Given the description of an element on the screen output the (x, y) to click on. 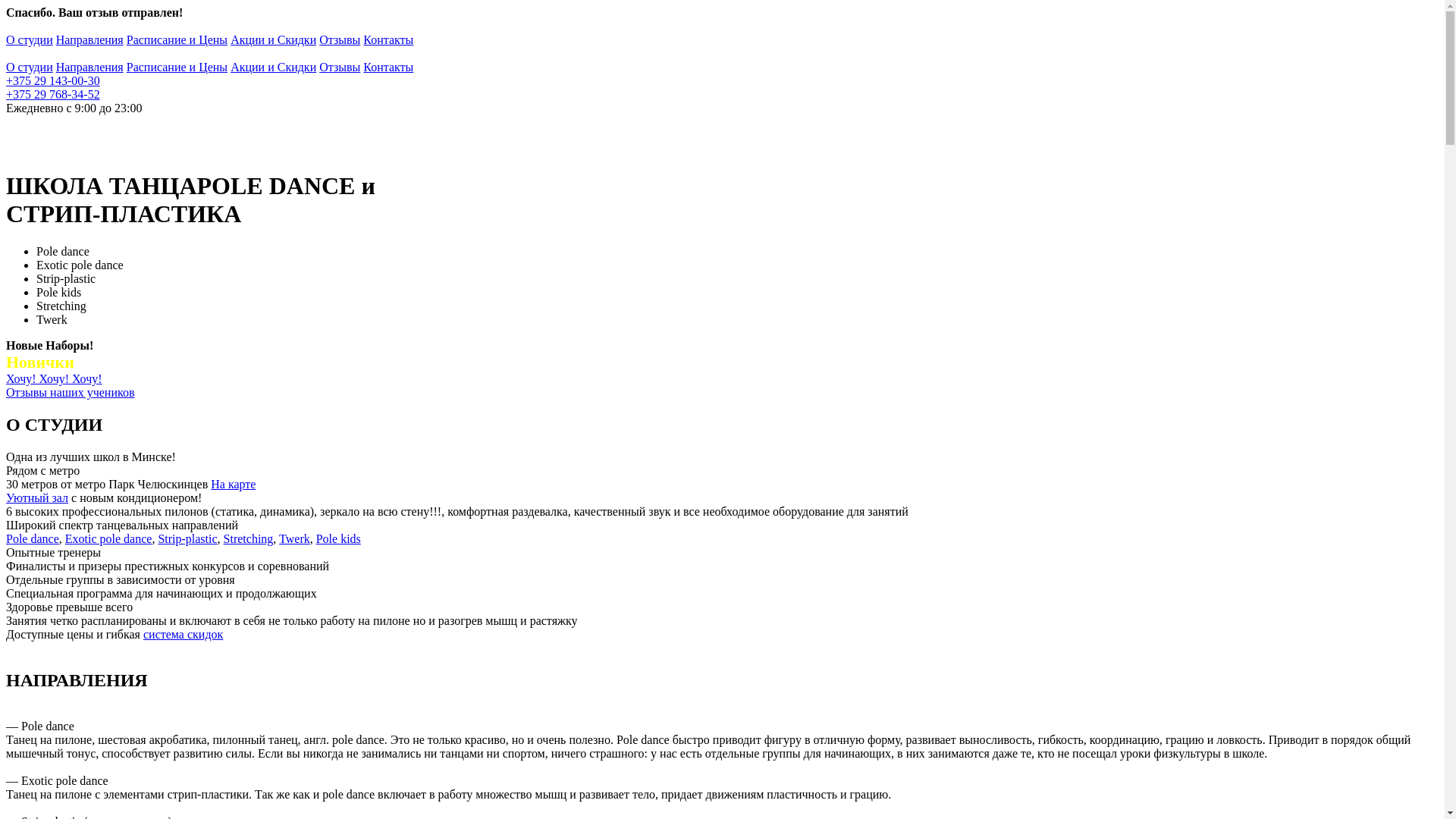
Exotic pole dance Element type: text (108, 538)
+375 29 768-34-52 Element type: text (53, 93)
Stretching Element type: text (248, 538)
Pole dance Element type: text (32, 538)
Strip-plastic Element type: text (186, 538)
+375 29 143-00-30 Element type: text (53, 80)
Pole kids Element type: text (338, 538)
Twerk Element type: text (294, 538)
